Given the description of an element on the screen output the (x, y) to click on. 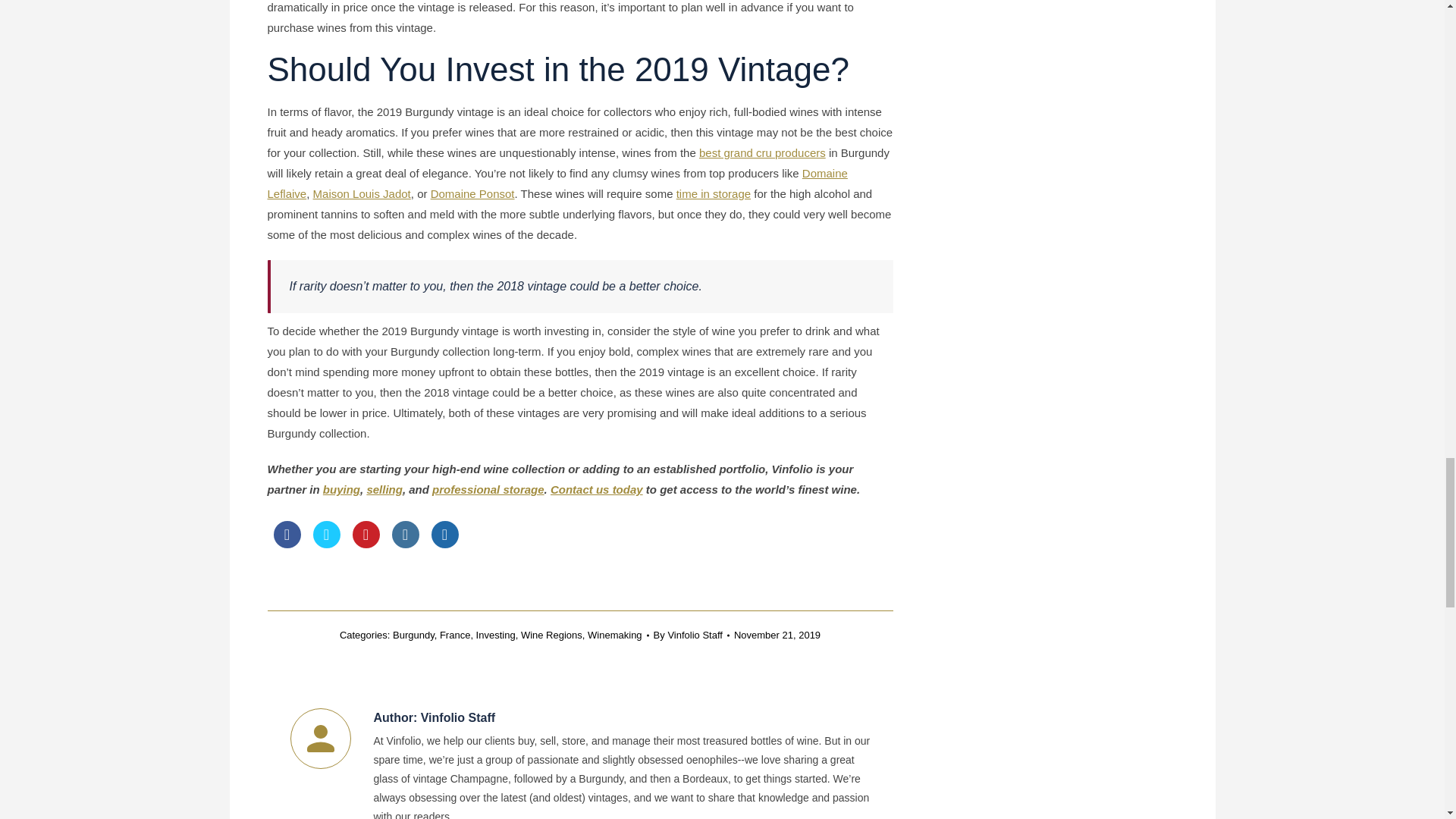
Maison Louis Jadot (361, 193)
Contact us today (596, 489)
11:00 am (777, 634)
View all posts by Vinfolio Staff (691, 634)
Domaine Leflaive (556, 183)
Burgundy (413, 634)
time in storage (714, 193)
professional storage (488, 489)
Investing (495, 634)
best grand cru producers (761, 152)
buying (341, 489)
France (454, 634)
Domaine Ponsot (472, 193)
selling (384, 489)
